Given the description of an element on the screen output the (x, y) to click on. 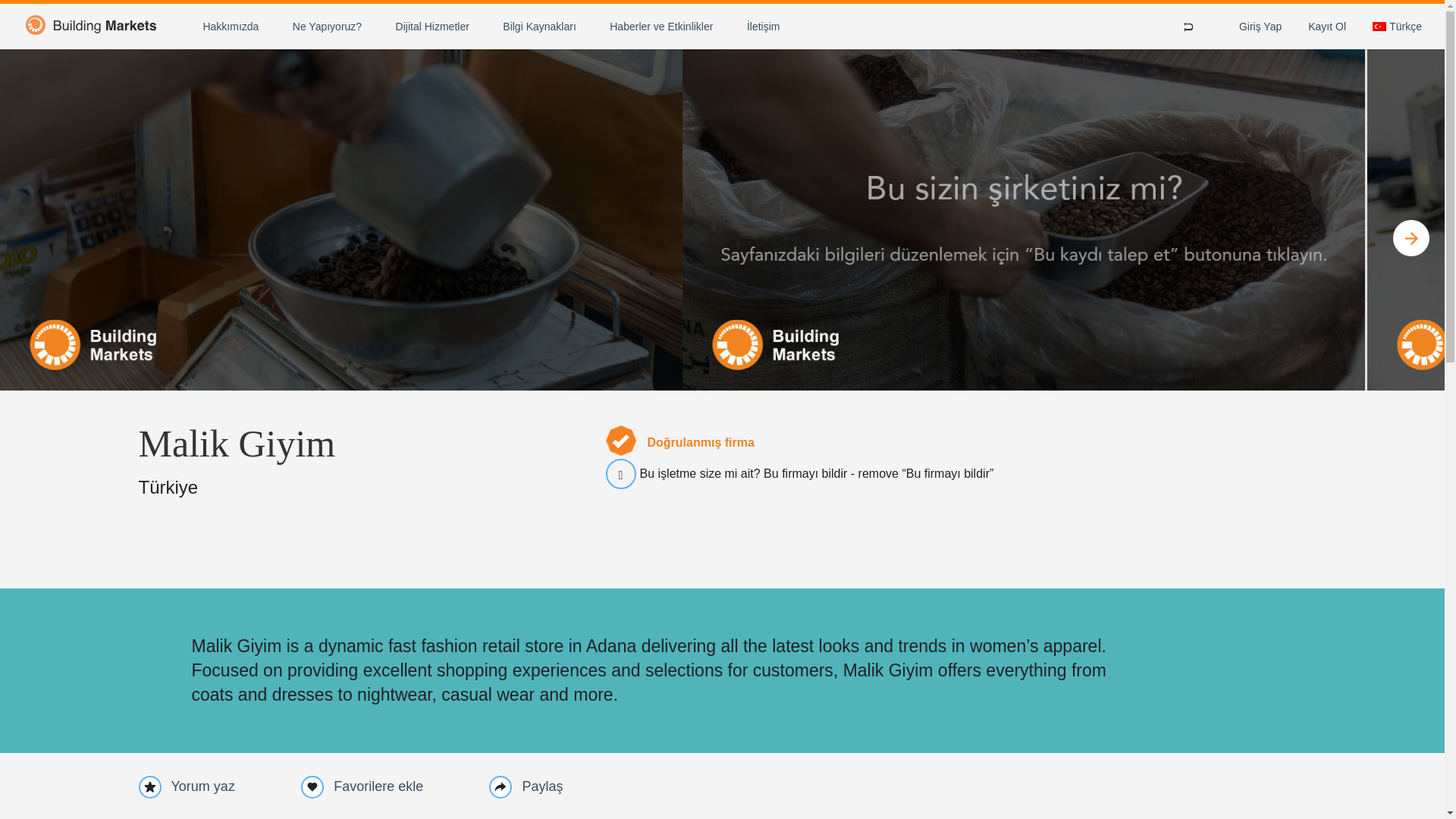
Dijital Hizmetler (432, 26)
Haberler ve Etkinlikler (661, 26)
